Given the description of an element on the screen output the (x, y) to click on. 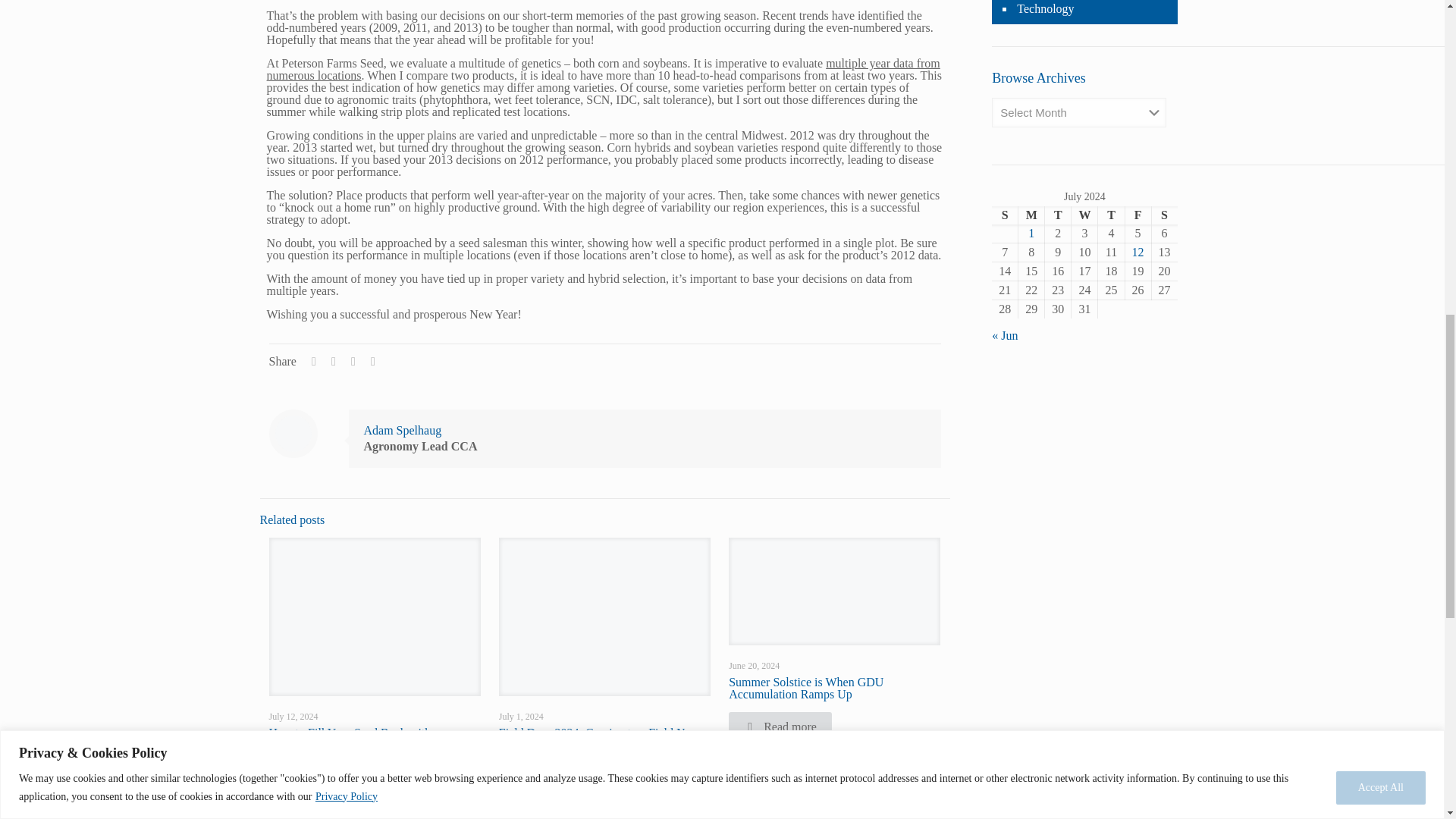
Tuesday (1058, 215)
Thursday (1110, 215)
Sunday (1004, 215)
Friday (1137, 215)
Saturday (1163, 215)
Monday (1031, 215)
Wednesday (1084, 215)
